Given the description of an element on the screen output the (x, y) to click on. 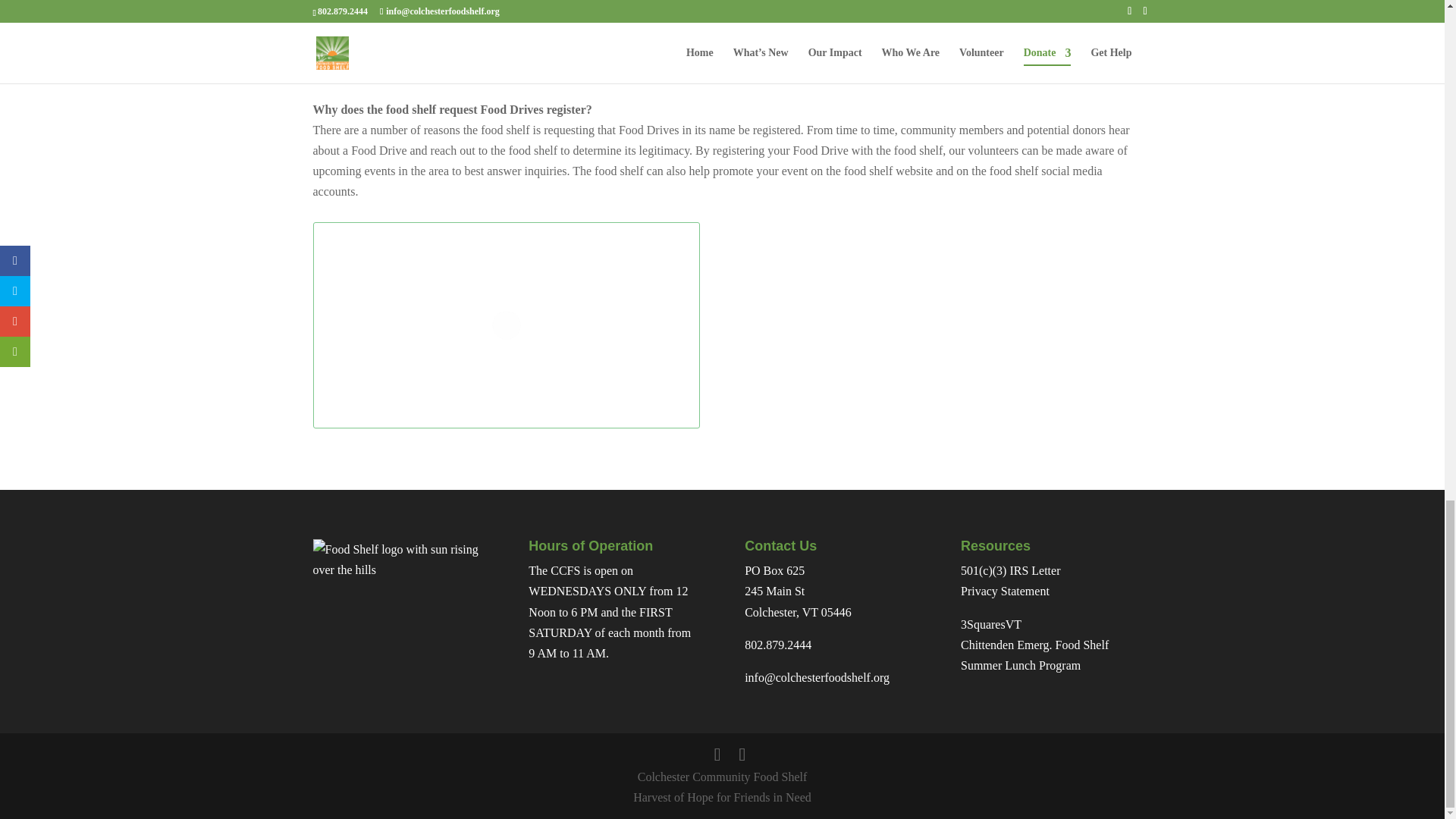
Food Drive Registration Form (892, 75)
Summer Lunch Program (1020, 665)
Chittenden Emerg. Food Shelf (1034, 644)
3SquaresVT (991, 624)
Privacy Statement (1004, 590)
